Given the description of an element on the screen output the (x, y) to click on. 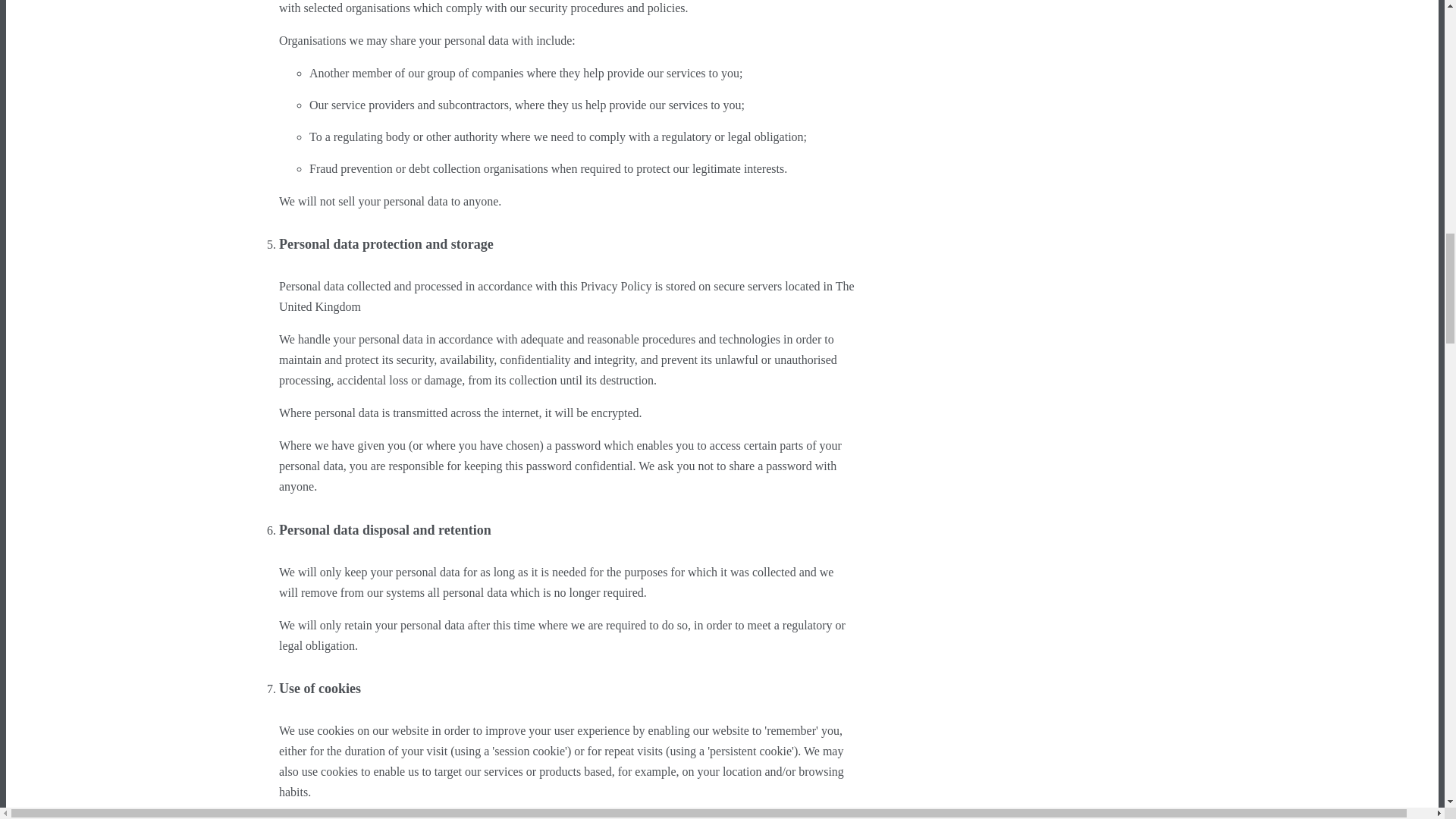
Cookie Policy (453, 818)
